Given the description of an element on the screen output the (x, y) to click on. 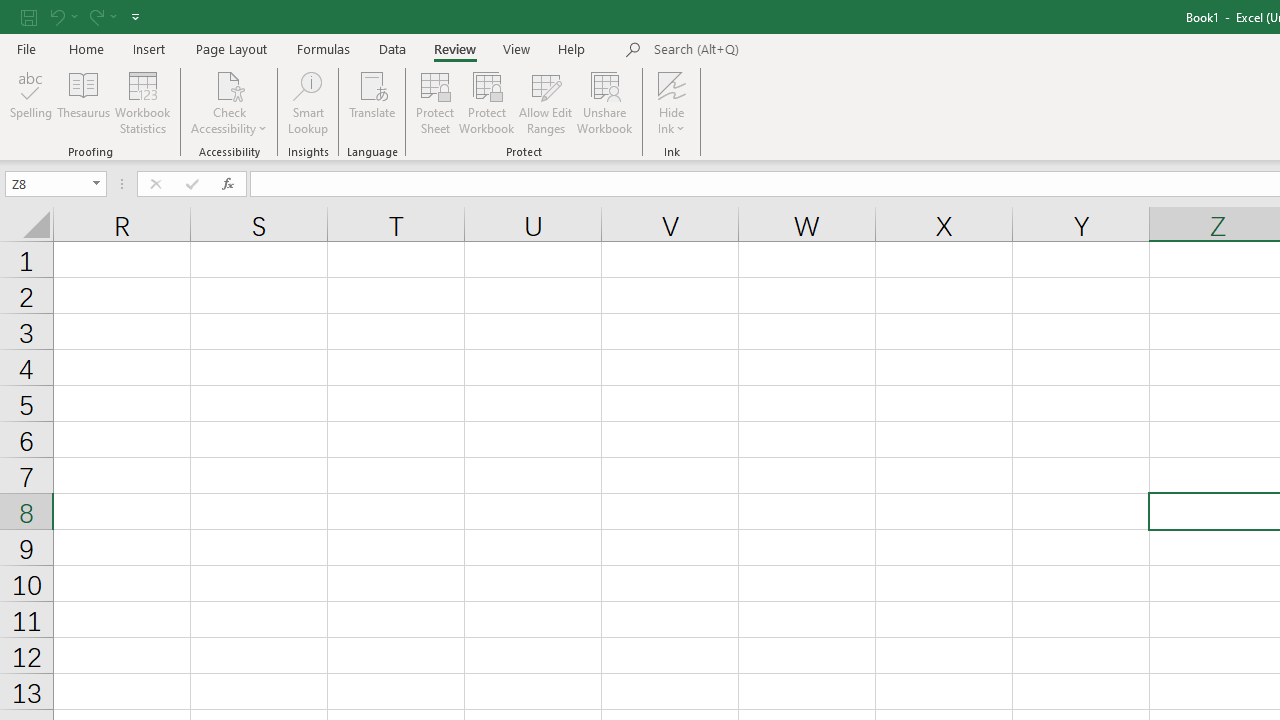
Spelling... (31, 102)
